Given the description of an element on the screen output the (x, y) to click on. 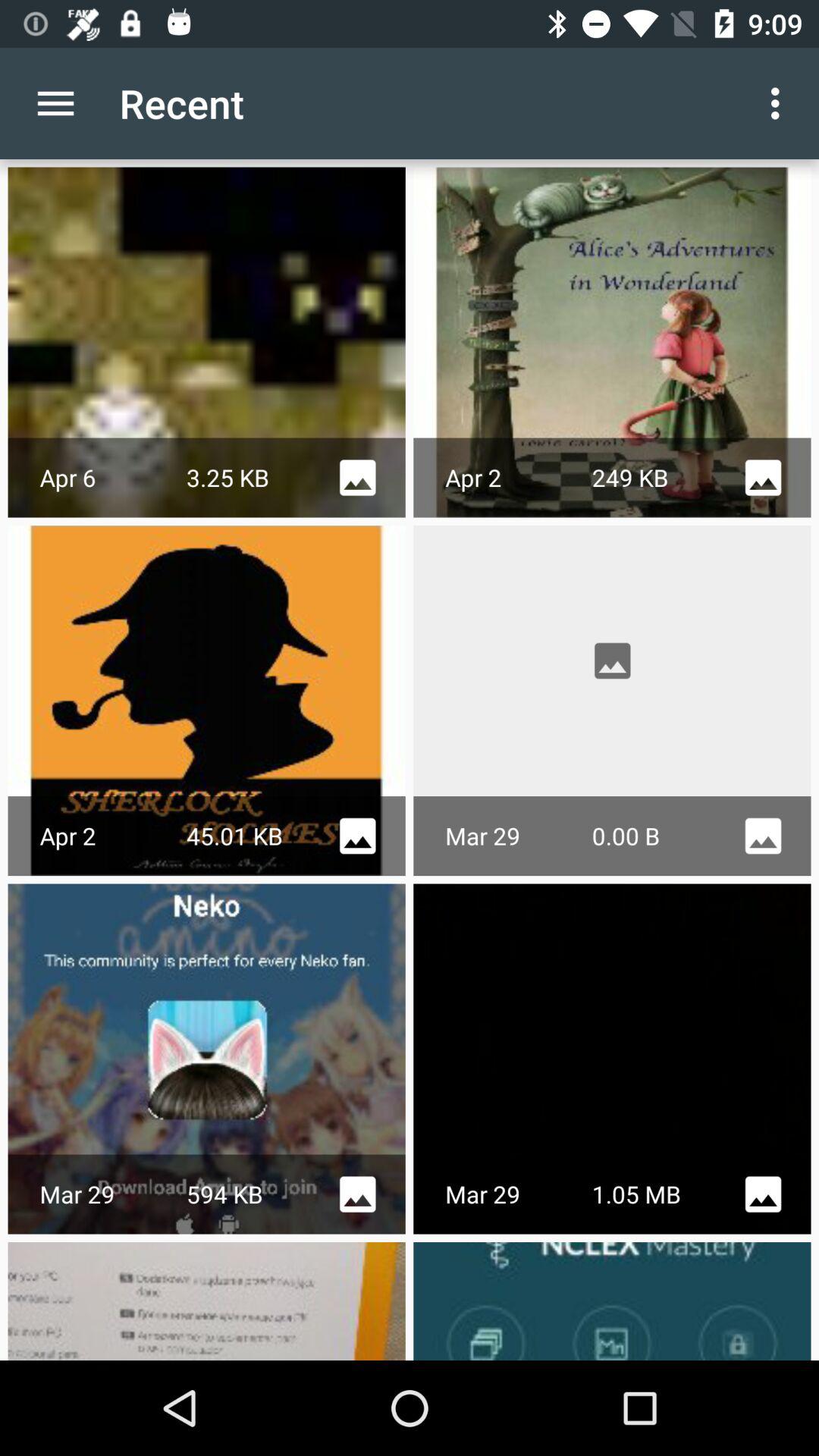
press the item to the right of the recent item (779, 103)
